Given the description of an element on the screen output the (x, y) to click on. 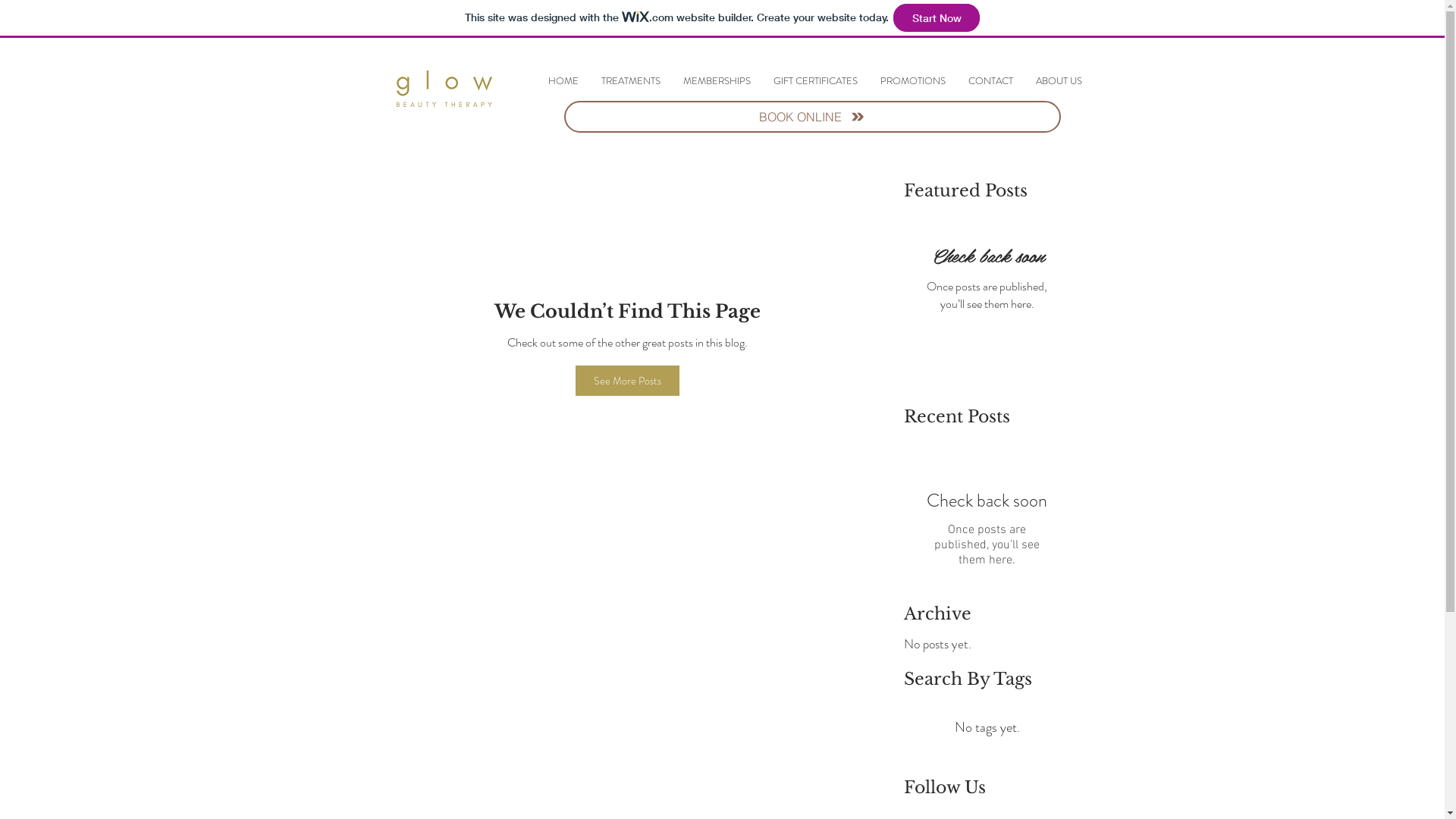
webstore Gold Logo.png Element type: hover (443, 95)
TREATMENTS Element type: text (630, 81)
GIFT CERTIFICATES Element type: text (814, 81)
MEMBERSHIPS Element type: text (716, 81)
CONTACT Element type: text (990, 81)
PROMOTIONS Element type: text (913, 81)
ABOUT US Element type: text (1057, 81)
See More Posts Element type: text (627, 380)
BOOK ONLINE Element type: text (812, 116)
HOME Element type: text (562, 81)
